Given the description of an element on the screen output the (x, y) to click on. 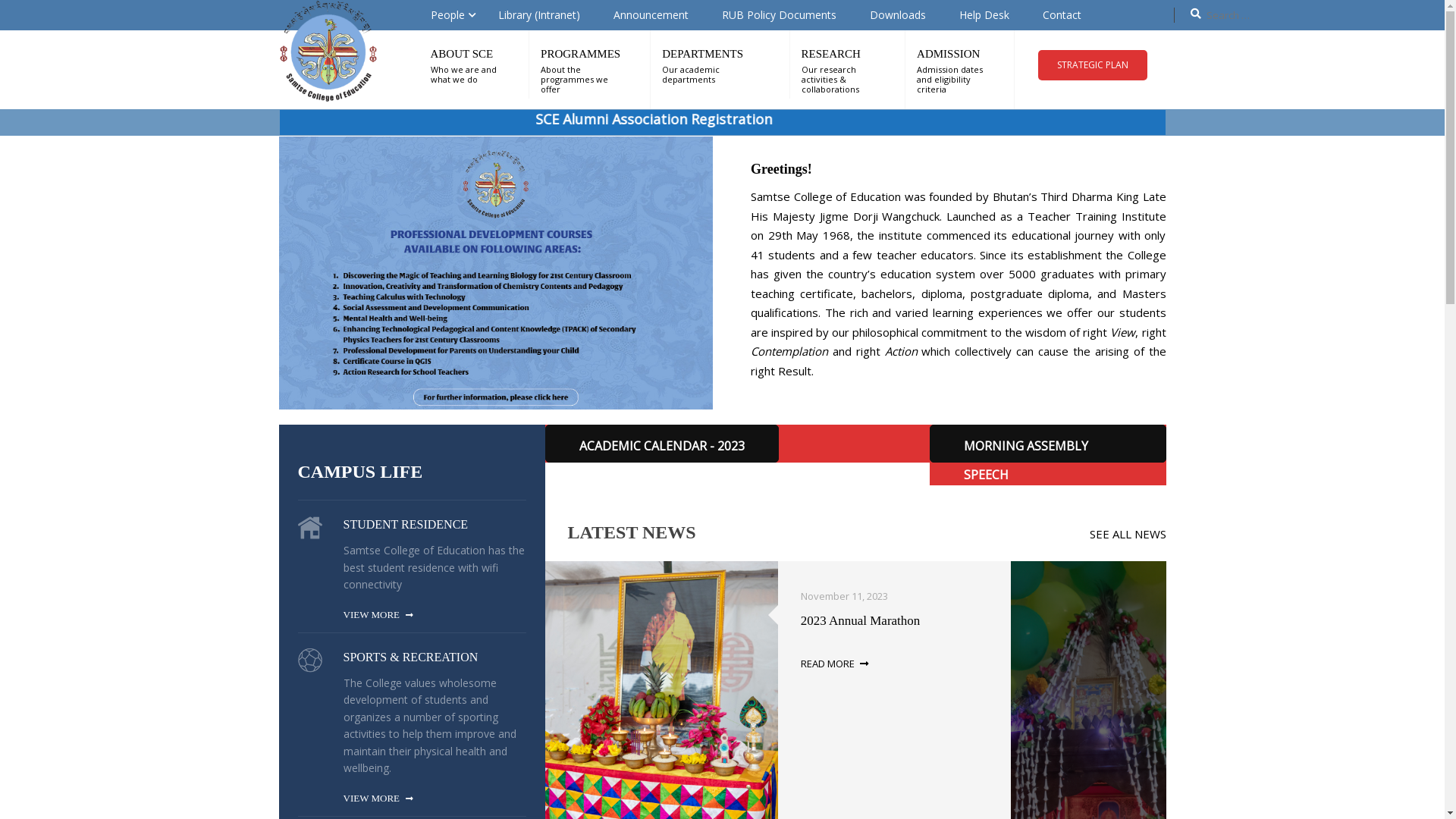
RUB Policy Documents Element type: text (778, 14)
READ MORE Element type: text (834, 664)
VIEW MORE Element type: text (377, 798)
home-5-32 Element type: hover (309, 527)
ACADEMIC CALENDAR - 2023 Element type: text (661, 443)
2023 Annual Marathon Element type: text (860, 620)
Downloads Element type: text (897, 14)
ABOUT SCE Element type: text (461, 53)
SCE Alumni Association Registration Element type: text (751, 119)
ball-white Element type: hover (309, 660)
Help Desk Element type: text (983, 14)
Announcement Element type: text (649, 14)
ADMISSION Element type: text (947, 53)
Search Element type: text (18, 15)
SEE ALL NEWS Element type: text (1126, 533)
Contact Element type: text (1060, 14)
MORNING ASSEMBLY SPEECH Element type: text (1047, 443)
VIEW MORE Element type: text (377, 614)
STRATEGIC PLAN Element type: text (1092, 65)
PROGRAMMES Element type: text (580, 53)
DEPARTMENTS Element type: text (702, 53)
RESEARCH Element type: text (830, 53)
People Element type: text (447, 14)
Library (Intranet) Element type: text (538, 14)
